Given the description of an element on the screen output the (x, y) to click on. 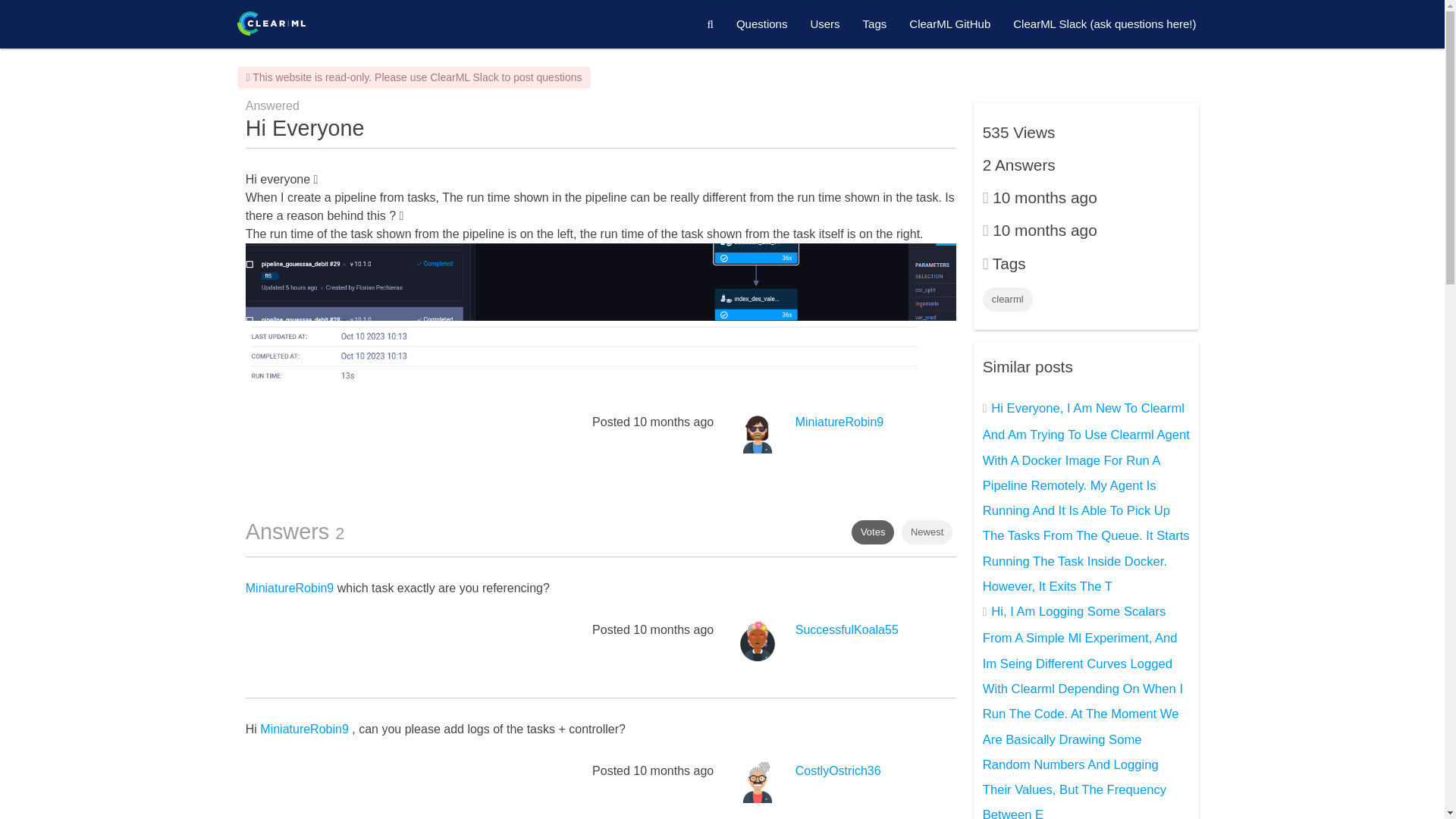
Votes (873, 532)
Tags (874, 24)
Tags (874, 24)
MiniatureRobin9 (838, 421)
ClearML GitHub (949, 24)
MiniatureRobin9 (304, 728)
10 October 2023, 13:56 (673, 421)
SuccessfulKoala55 (846, 629)
Users (823, 24)
Newest (926, 532)
